Given the description of an element on the screen output the (x, y) to click on. 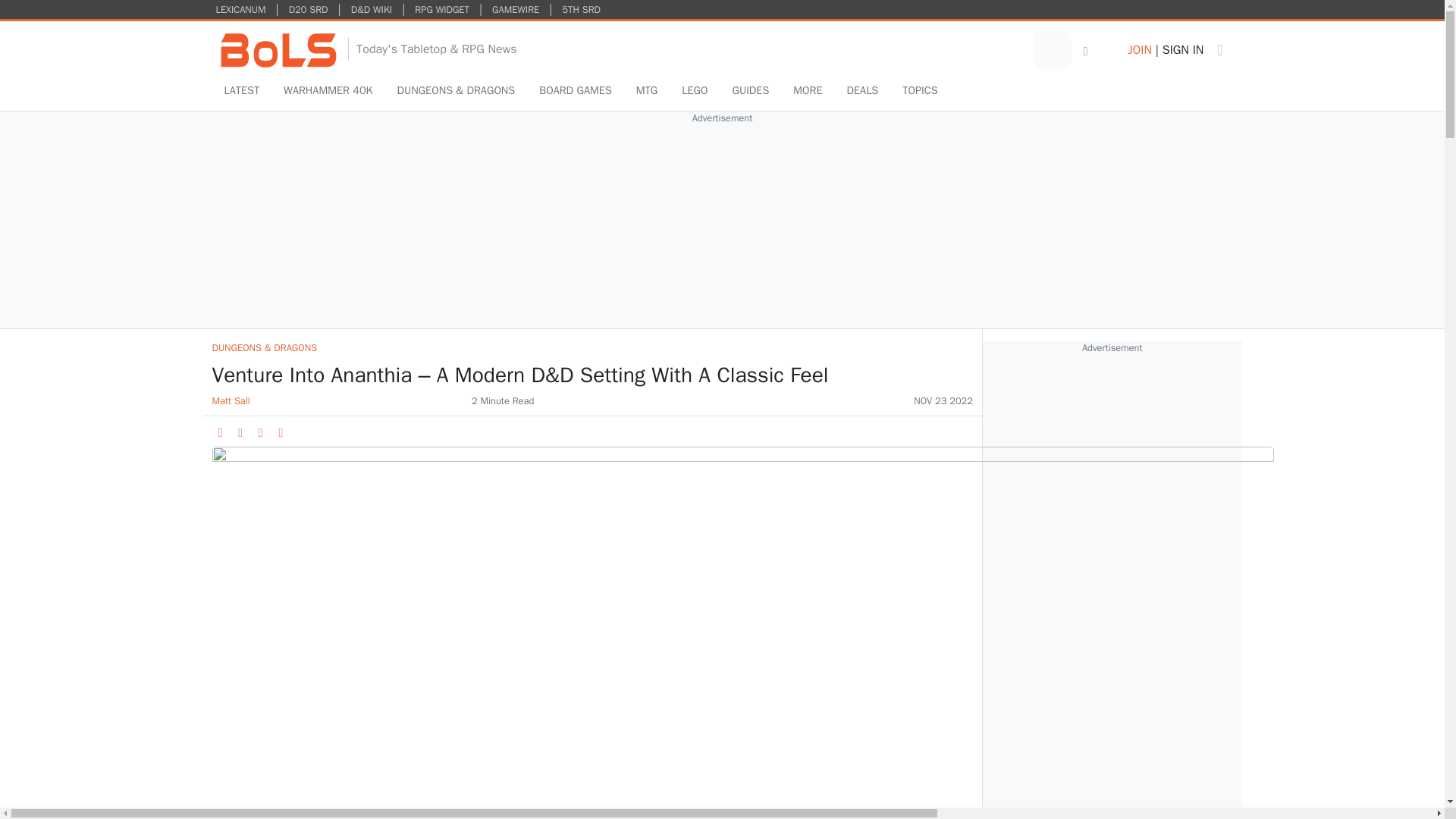
Warhammer 40k (327, 90)
Lexicanum (240, 9)
RPG WIDGET (441, 9)
GUIDES (749, 90)
TOPICS (919, 90)
MTG (646, 90)
D20 SRD (308, 9)
GAMEWIRE (515, 9)
DEALS (862, 90)
BOARD GAMES (575, 90)
